Given the description of an element on the screen output the (x, y) to click on. 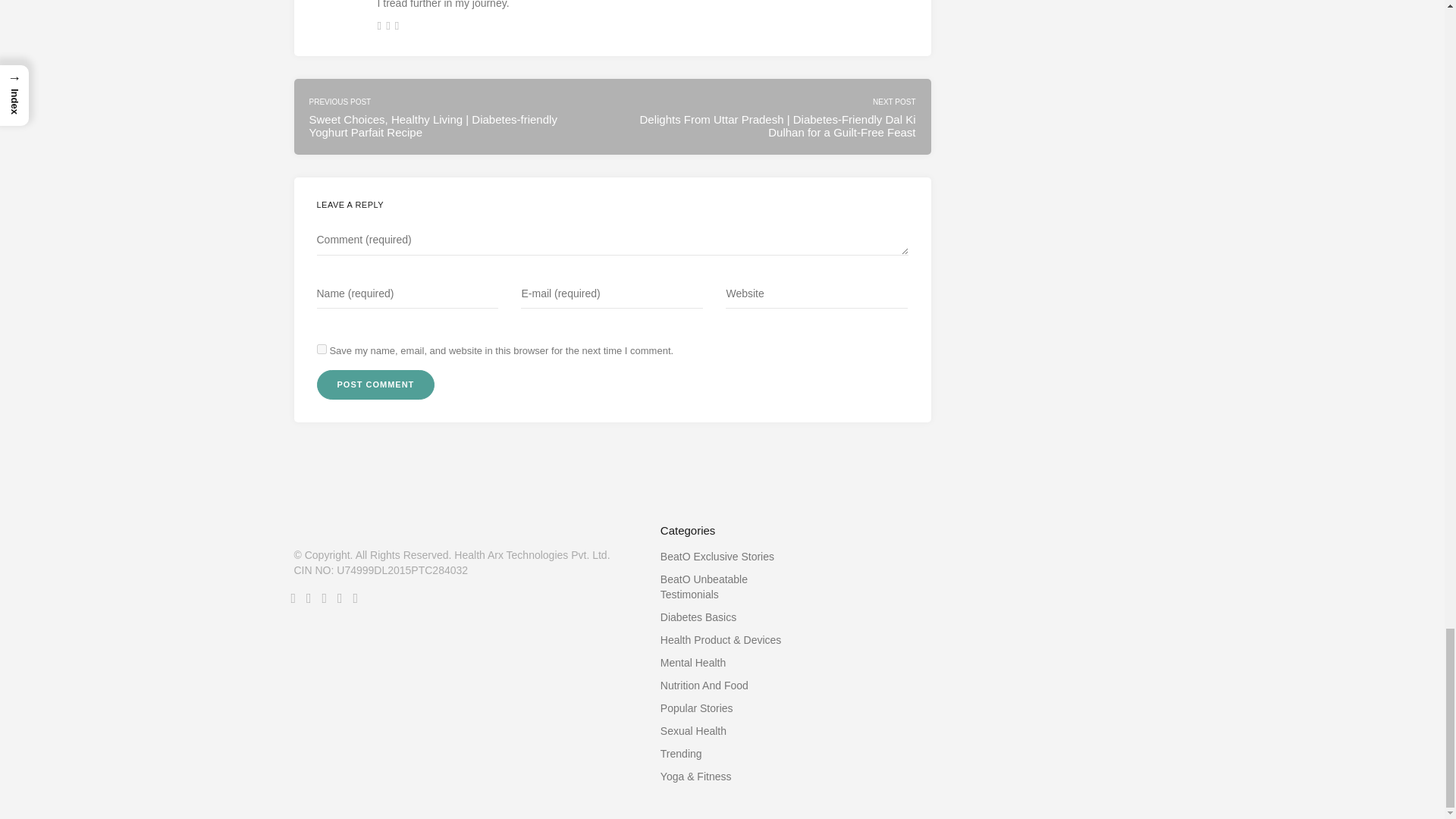
yes (321, 348)
Post Comment (376, 384)
